Given the description of an element on the screen output the (x, y) to click on. 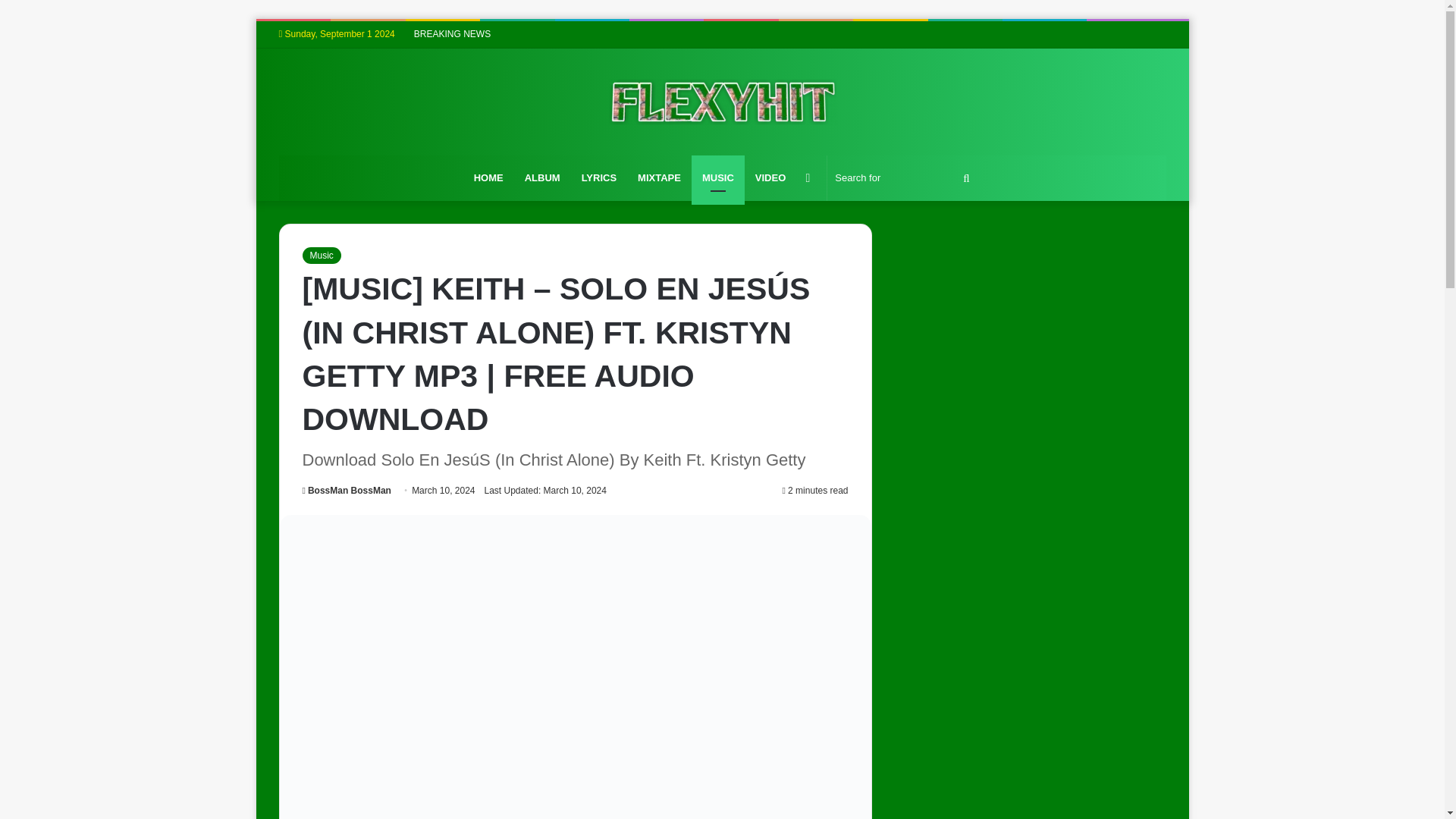
VIDEO (770, 177)
BossMan BossMan (345, 490)
ALBUM (541, 177)
MIXTAPE (659, 177)
Search for (904, 177)
Flexyhit (721, 101)
MUSIC (717, 177)
BossMan BossMan (345, 490)
LYRICS (598, 177)
HOME (488, 177)
